Given the description of an element on the screen output the (x, y) to click on. 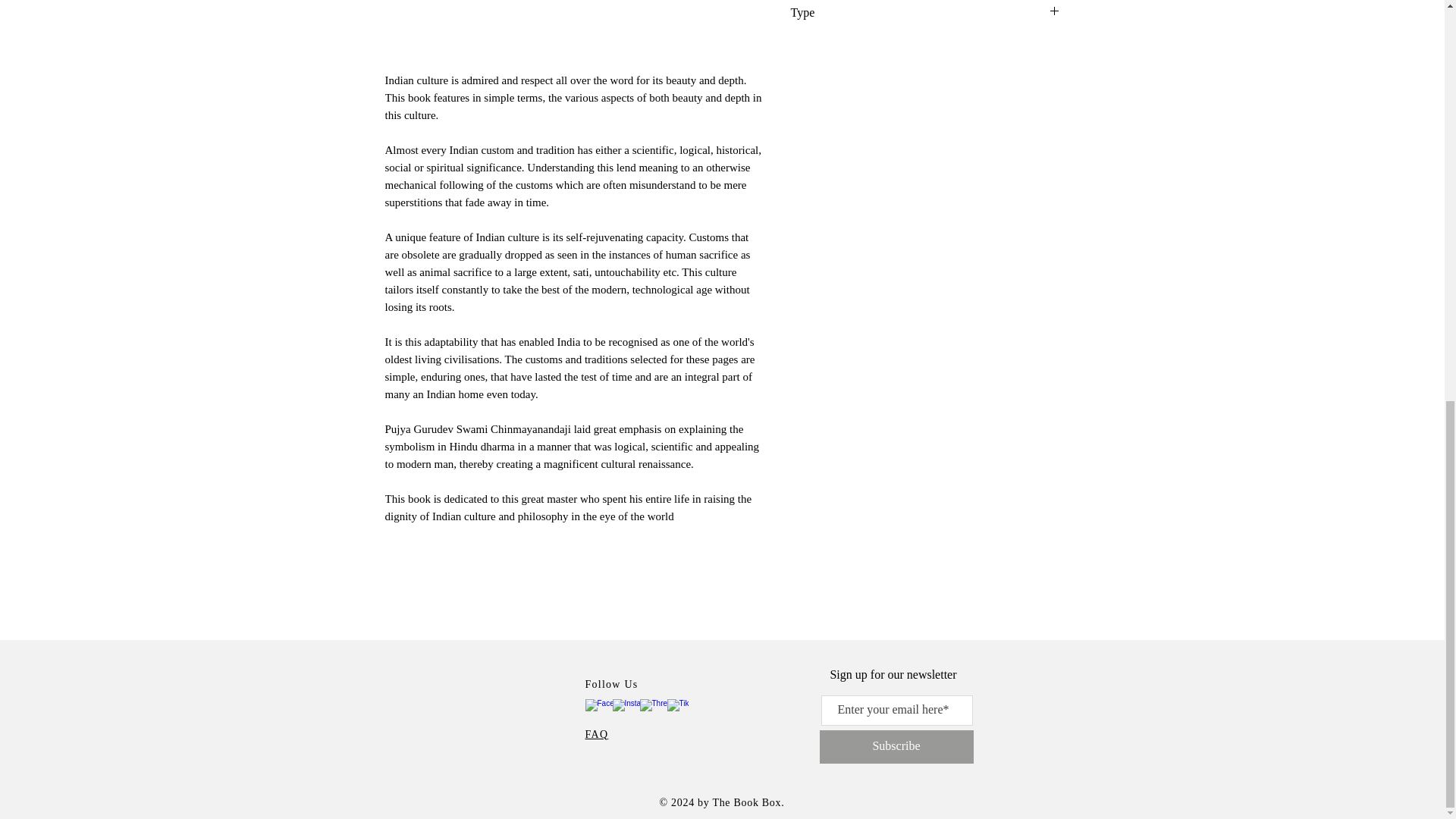
FAQ (596, 734)
Type (924, 12)
Subscribe (895, 746)
